Given the description of an element on the screen output the (x, y) to click on. 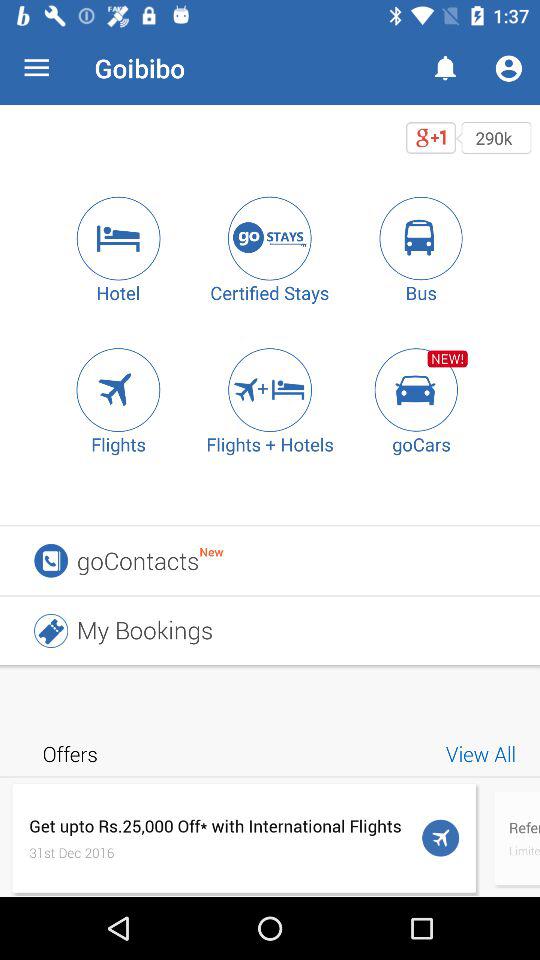
search for flights (118, 390)
